Given the description of an element on the screen output the (x, y) to click on. 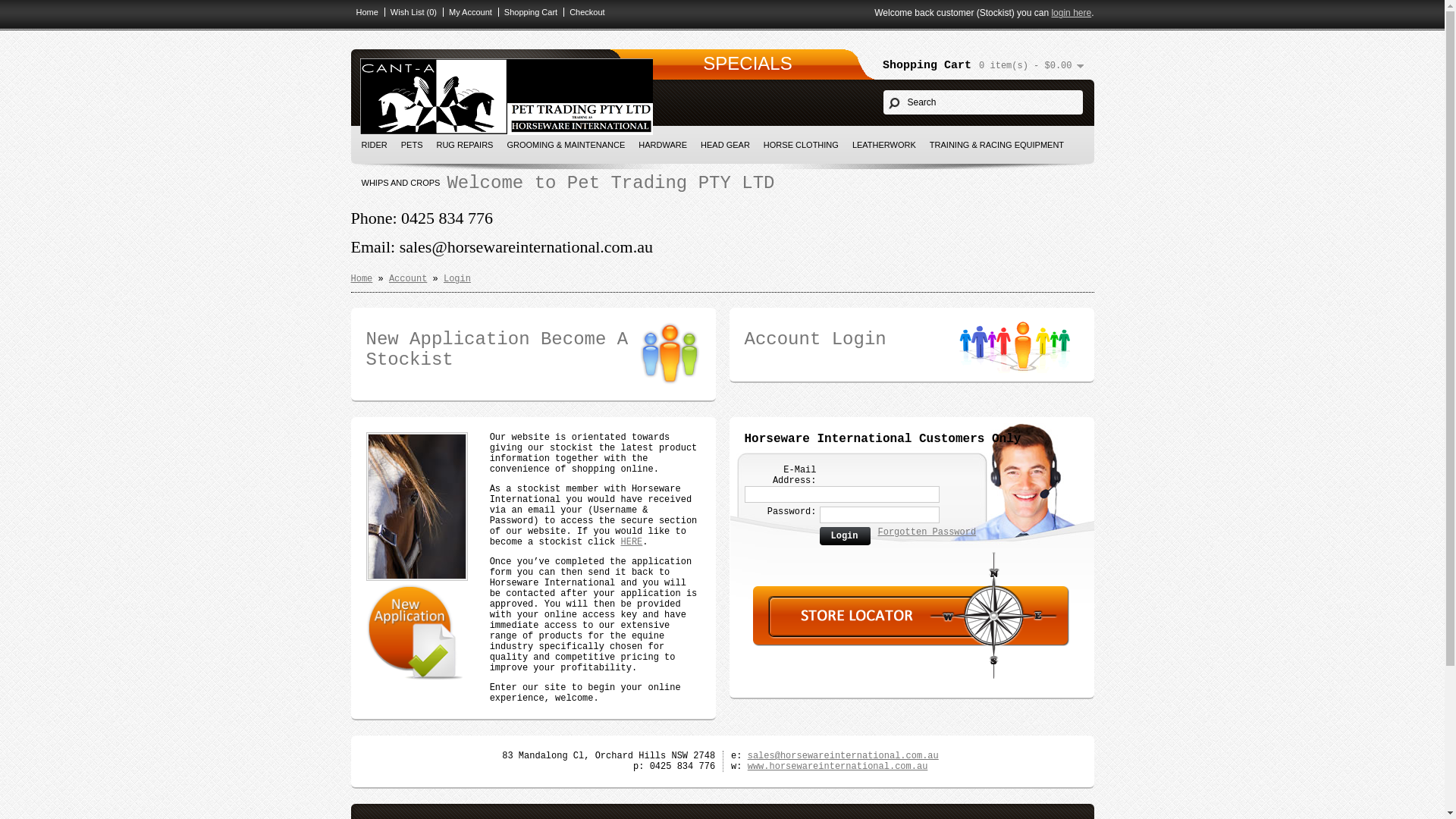
0 item(s) - $0.00 Element type: text (1030, 65)
My Account Element type: text (467, 11)
Home Element type: text (363, 11)
HEAD GEAR Element type: text (724, 144)
Search Element type: text (982, 102)
Forgotten Password Element type: text (927, 532)
GROOMING & MAINTENANCE Element type: text (565, 144)
RIDER Element type: text (374, 144)
PETS Element type: text (411, 144)
LEATHERWORK Element type: text (883, 144)
HORSE CLOTHING Element type: text (800, 144)
Shopping Cart Element type: text (527, 11)
sales@horsewareinternational.com.au Element type: text (842, 755)
HERE Element type: text (631, 541)
Checkout Element type: text (583, 11)
Home Element type: text (361, 278)
Find your nearest store. (Stockist) Element type: hover (910, 643)
Account Element type: text (407, 278)
WHIPS AND CROPS Element type: text (400, 182)
HARDWARE Element type: text (662, 144)
login here Element type: text (1071, 12)
Login Element type: text (844, 536)
RUG REPAIRS Element type: text (464, 144)
Login Element type: text (456, 278)
TRAINING & RACING EQUIPMENT Element type: text (996, 144)
Pet Trading PTY LTD Element type: hover (505, 96)
Wish List (0) Element type: text (410, 11)
www.horsewareinternational.com.au Element type: text (837, 766)
New Application Become A Stockist Element type: text (532, 349)
SPECIALS Element type: text (746, 63)
